Given the description of an element on the screen output the (x, y) to click on. 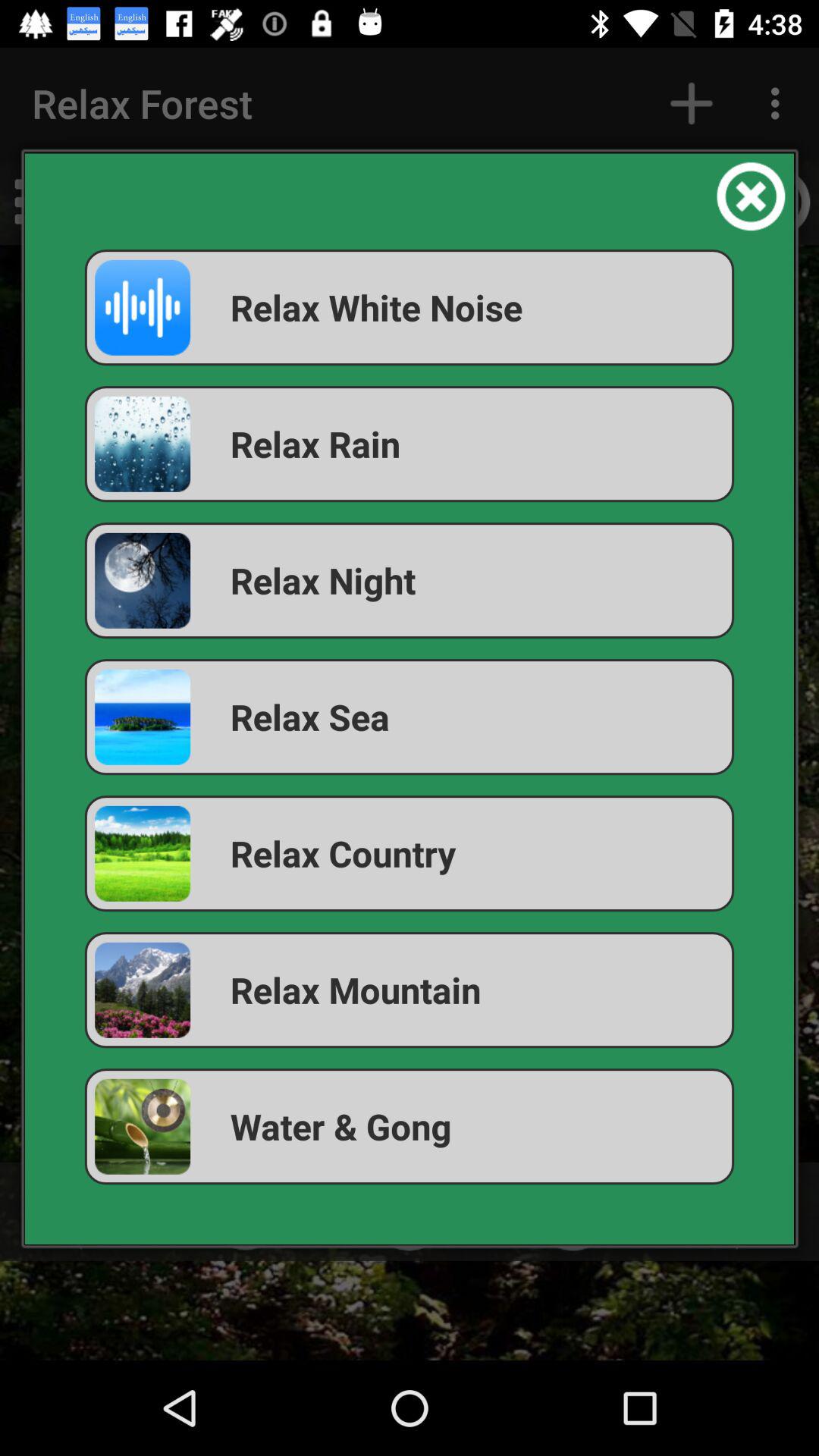
press relax mountain app (409, 990)
